Given the description of an element on the screen output the (x, y) to click on. 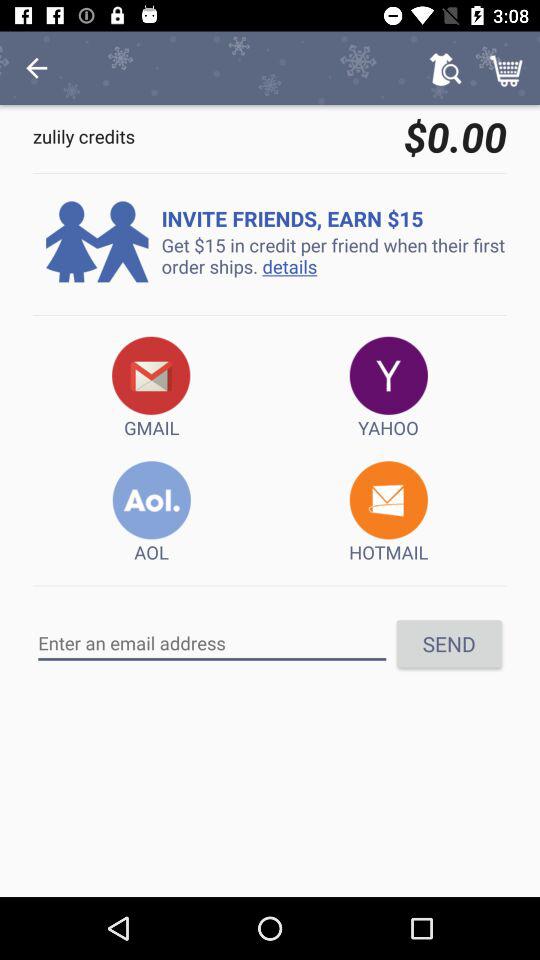
click item next to the hotmail icon (151, 512)
